Given the description of an element on the screen output the (x, y) to click on. 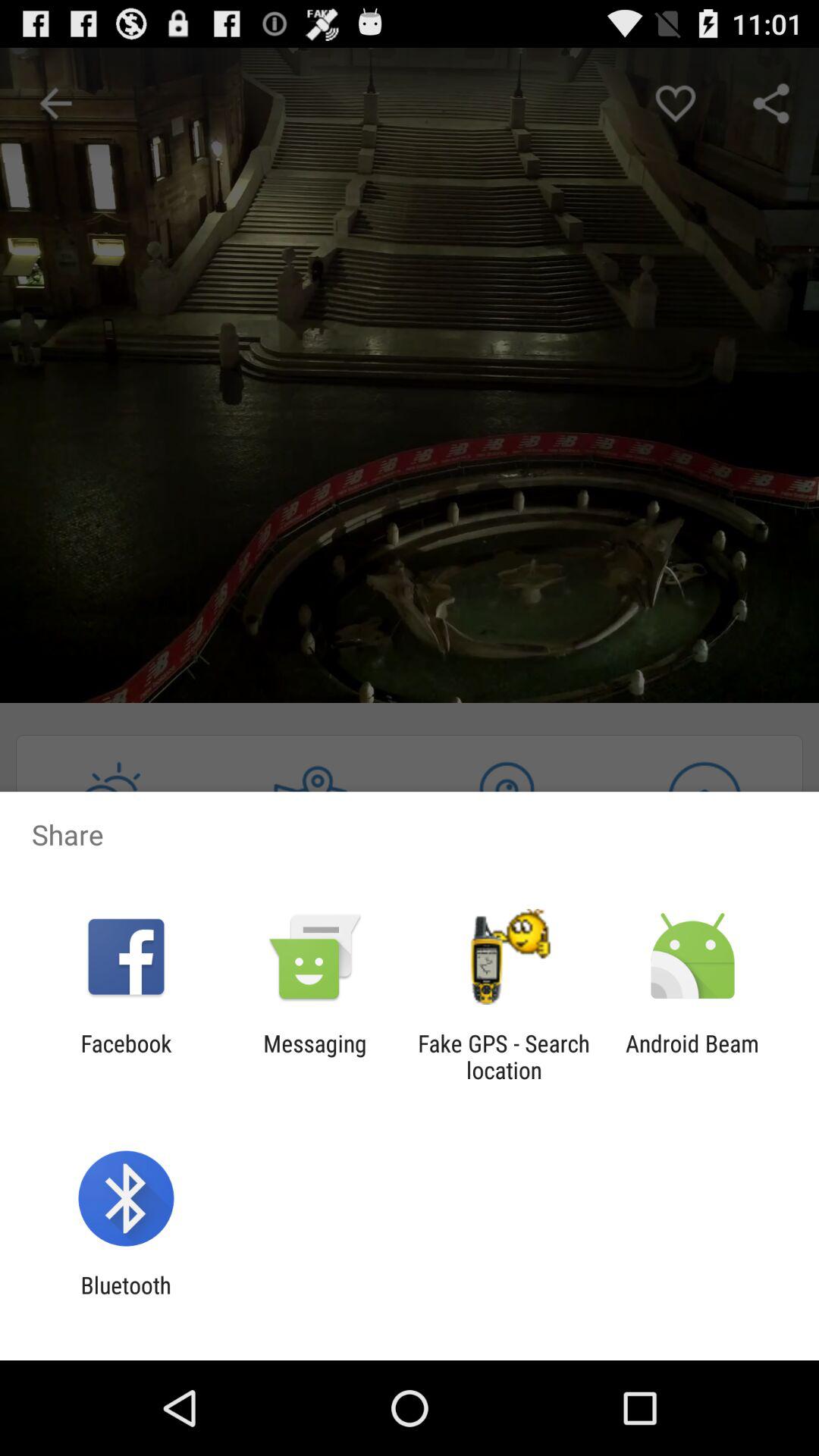
turn on the messaging icon (314, 1056)
